Given the description of an element on the screen output the (x, y) to click on. 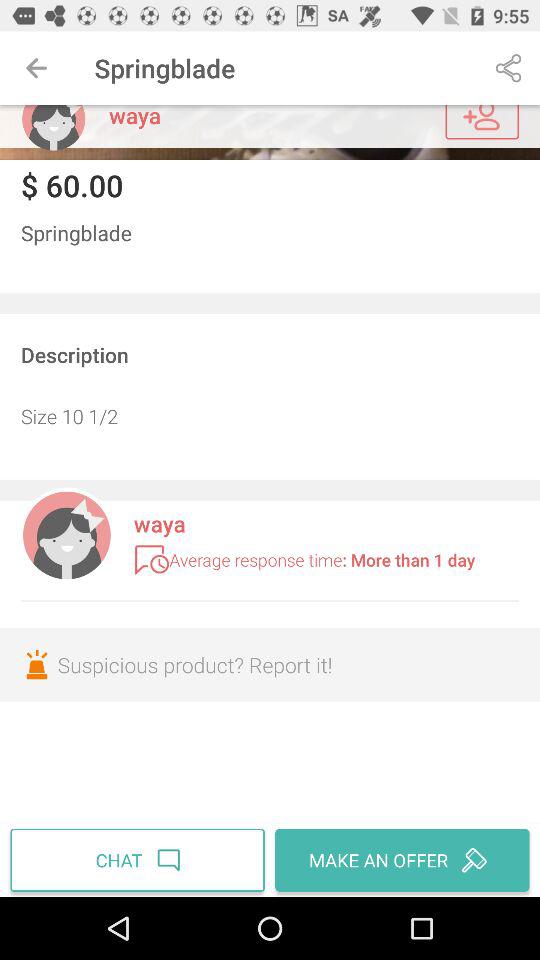
flip until the make an offer (399, 860)
